Given the description of an element on the screen output the (x, y) to click on. 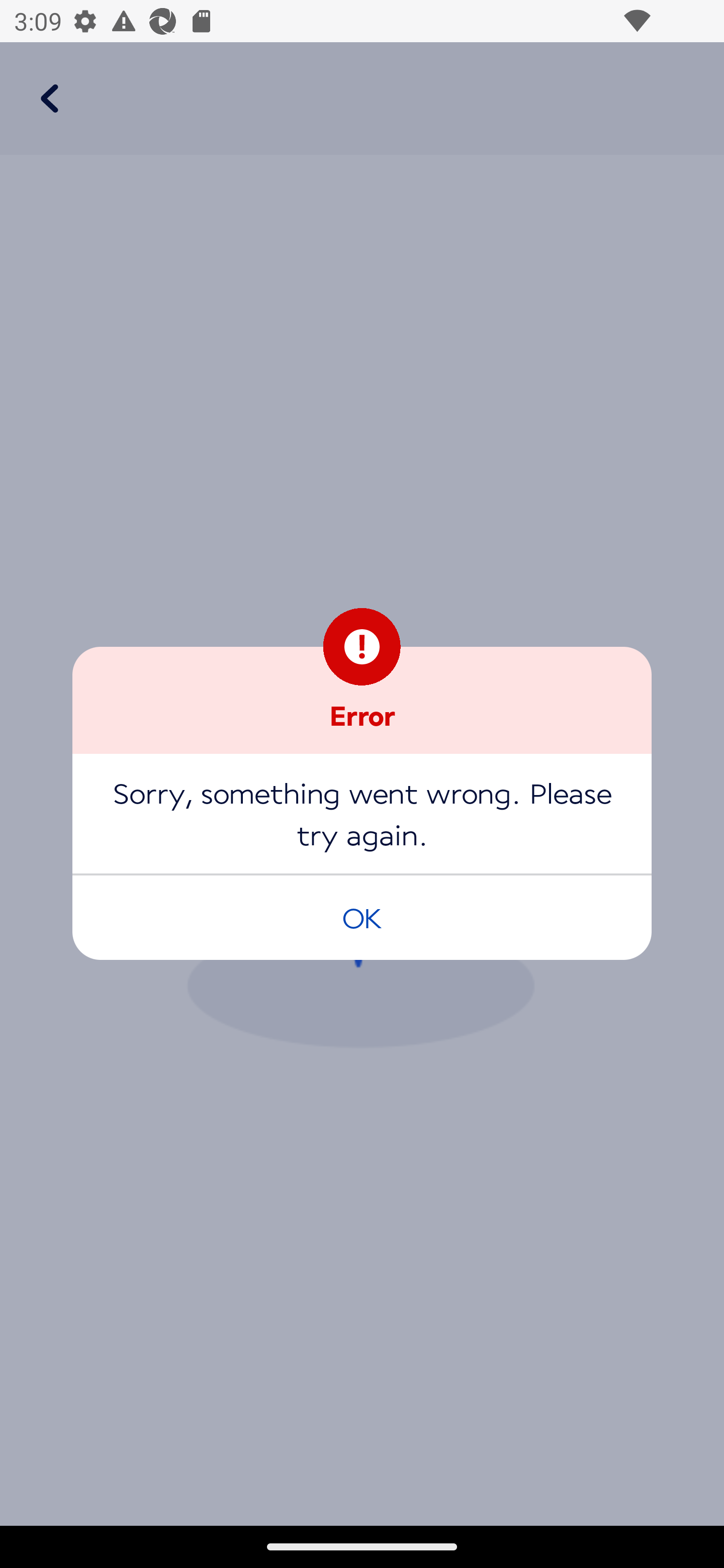
OK (361, 916)
